Given the description of an element on the screen output the (x, y) to click on. 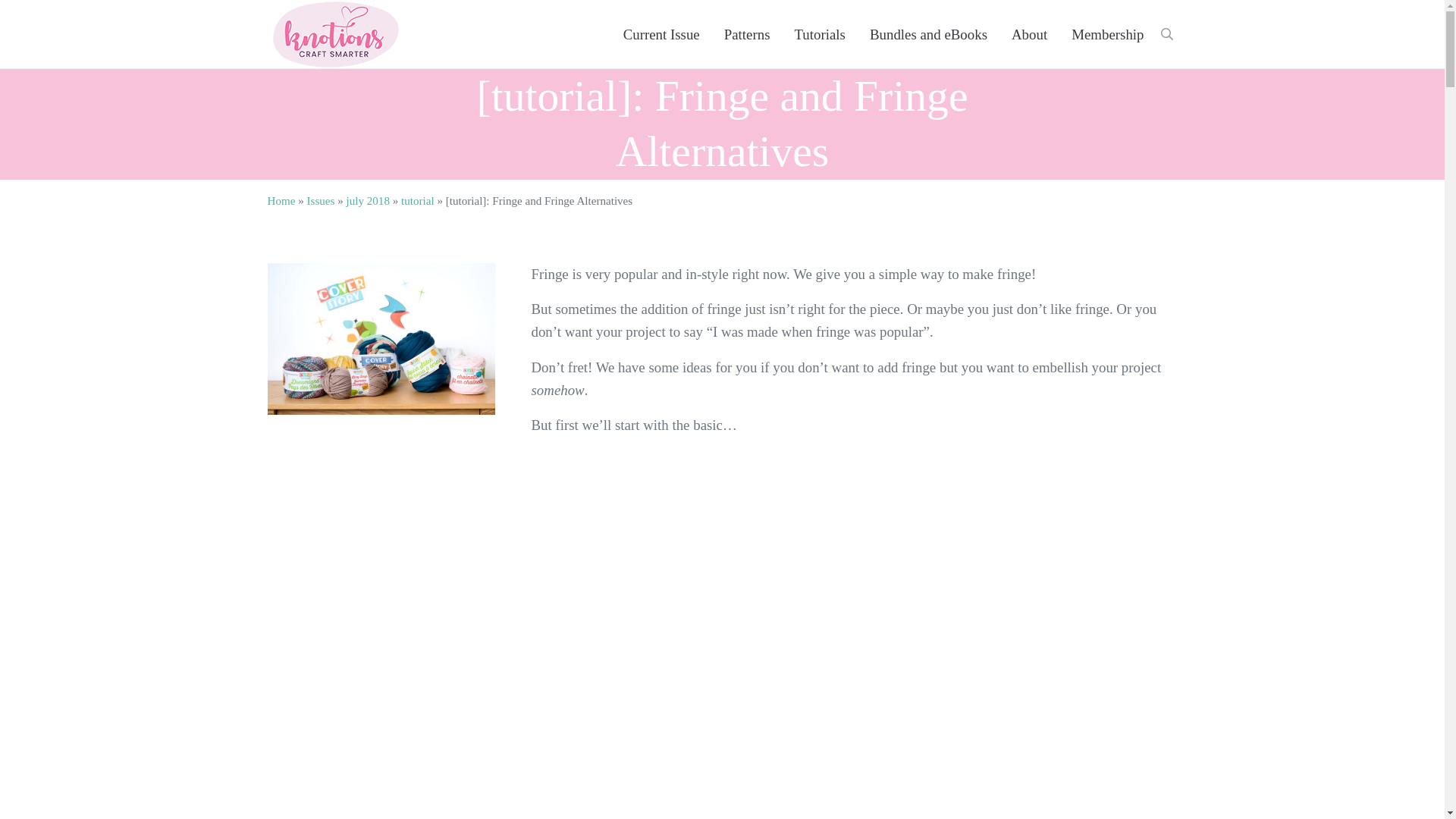
Tutorials (820, 34)
Patterns (747, 34)
Patterns (747, 34)
About Us (1028, 34)
Home (280, 200)
Bundles of Patterns and eBooks (927, 34)
Issues (319, 200)
Tutorials (820, 34)
july 2018 (367, 200)
tutorial (417, 200)
